Given the description of an element on the screen output the (x, y) to click on. 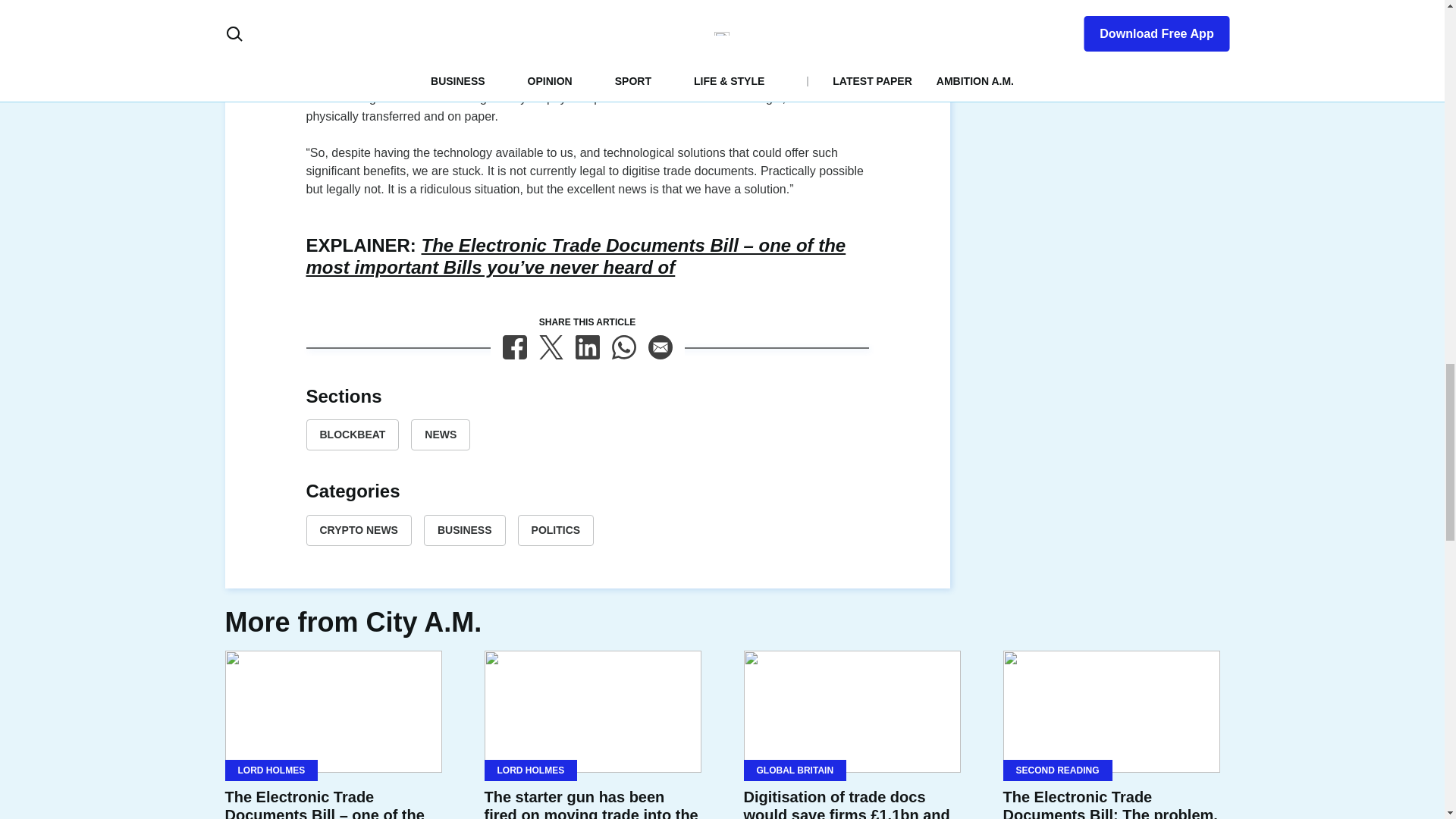
LinkedIn (586, 346)
Facebook (513, 346)
X (550, 346)
WhatsApp (622, 346)
Email (659, 346)
